Given the description of an element on the screen output the (x, y) to click on. 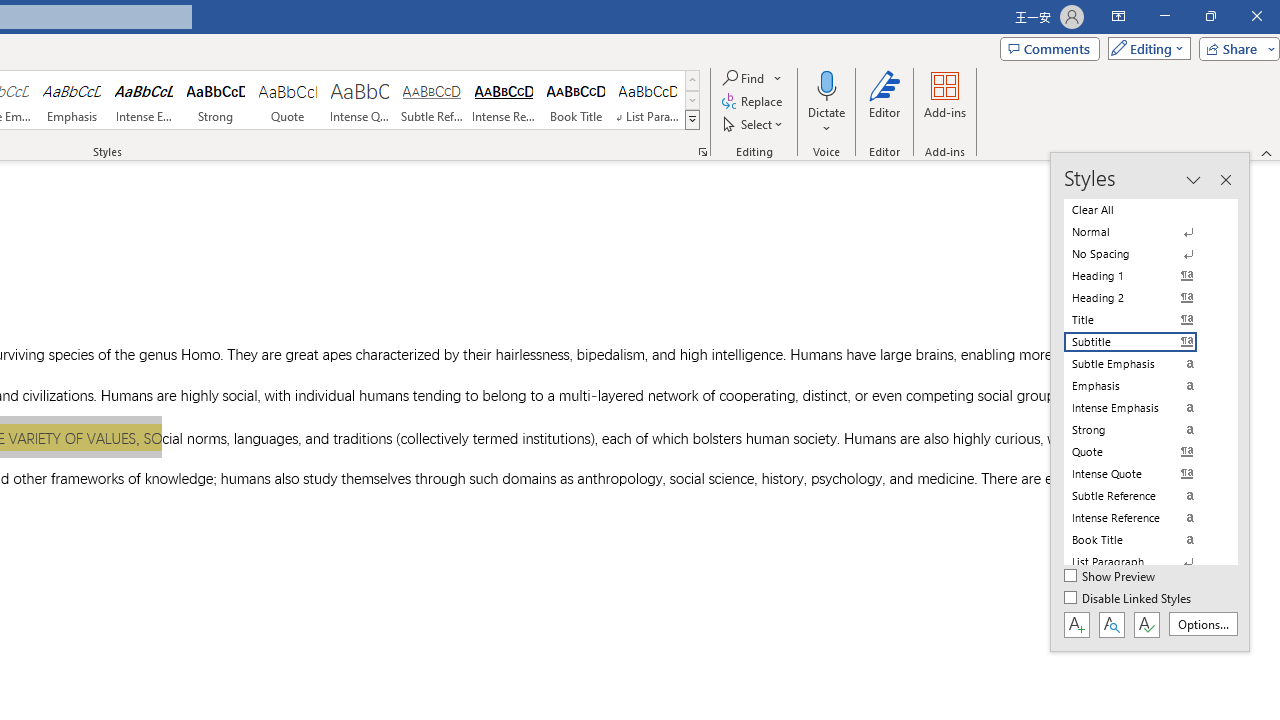
Dictate (826, 84)
Row Down (692, 100)
Restore Down (1210, 16)
Task Pane Options (1193, 179)
Normal (1142, 232)
Collapse the Ribbon (1267, 152)
Quote (287, 100)
List Paragraph (1142, 561)
Comments (1049, 48)
Show Preview (1110, 577)
Editor (885, 102)
Emphasis (71, 100)
Find (744, 78)
Disable Linked Styles (1129, 599)
